Given the description of an element on the screen output the (x, y) to click on. 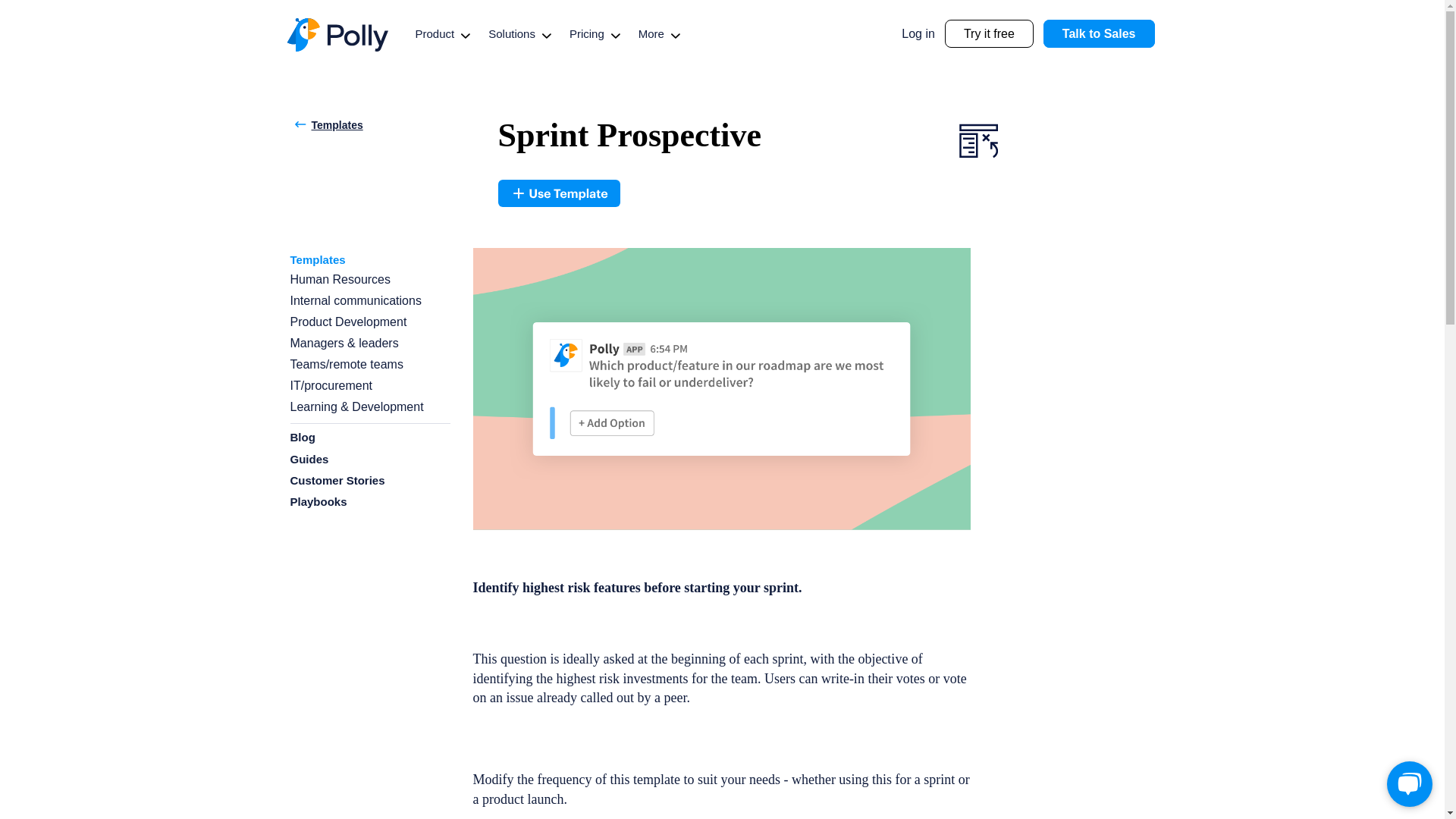
Polly-logo (336, 34)
Talk to Sales (1098, 33)
More (651, 33)
Pricing (586, 33)
Log in (917, 33)
Solutions (511, 33)
Product (434, 33)
